Given the description of an element on the screen output the (x, y) to click on. 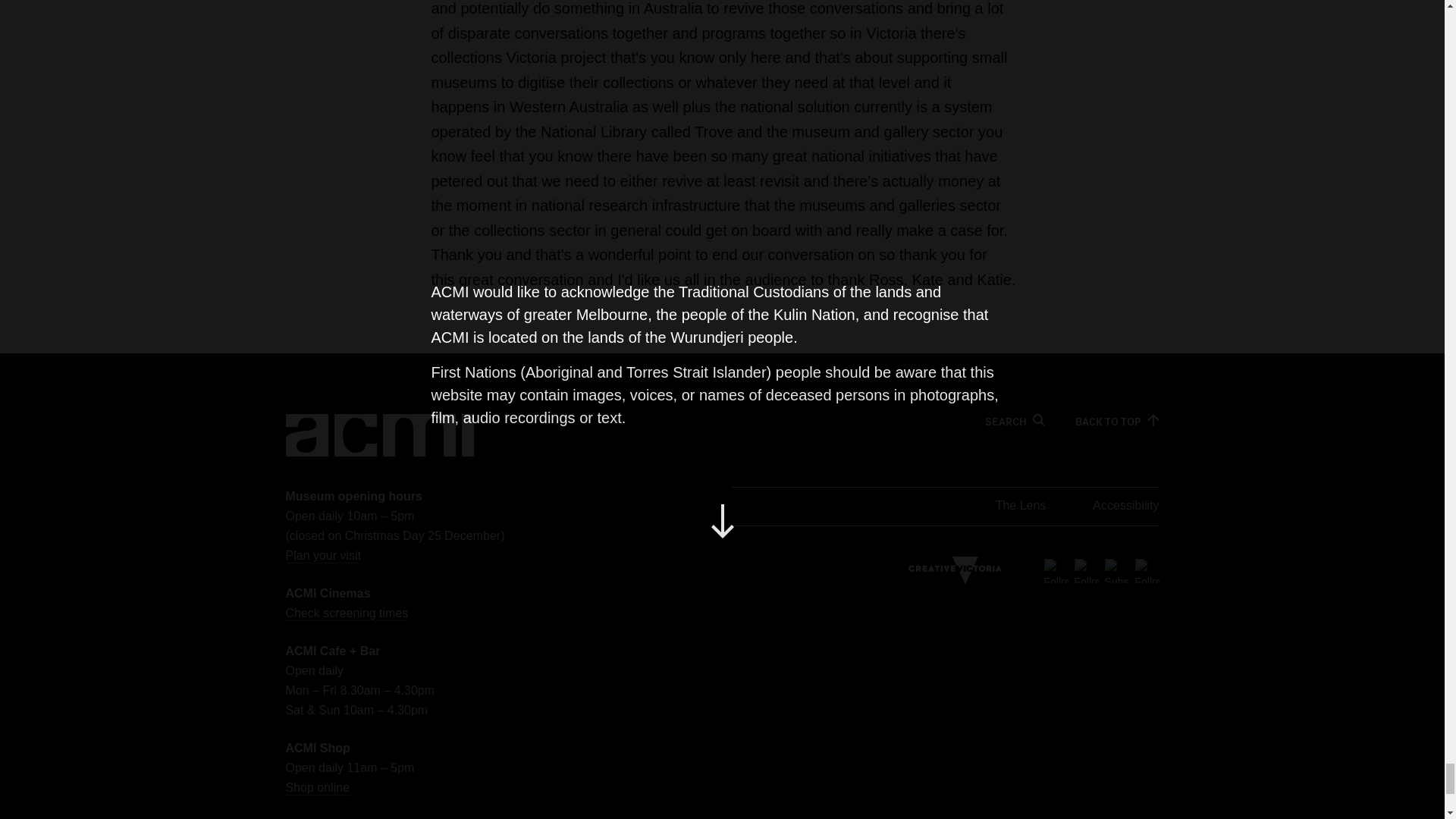
View Creative Victoria website (954, 570)
Follow ACMI on Instagram (1146, 570)
Follow ACMI on X (1055, 570)
Subscribe to ACMI's YouTube channel (1115, 570)
Follow ACMI on Facebook (1085, 570)
